Given the description of an element on the screen output the (x, y) to click on. 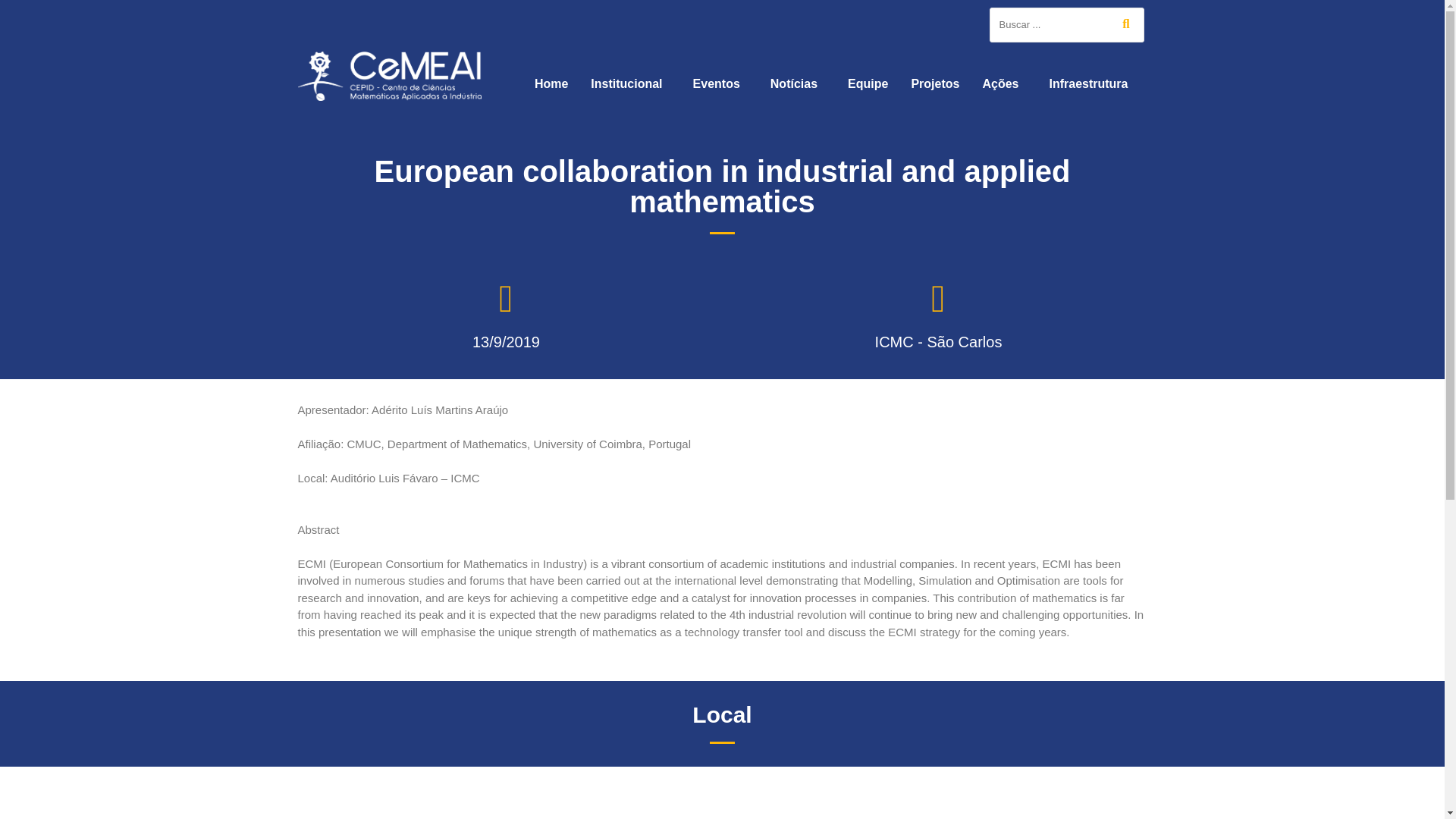
Eventos (719, 83)
Infraestrutura (1091, 83)
Institucional (630, 83)
Equipe (867, 83)
Projetos (935, 83)
Home (550, 83)
